Given the description of an element on the screen output the (x, y) to click on. 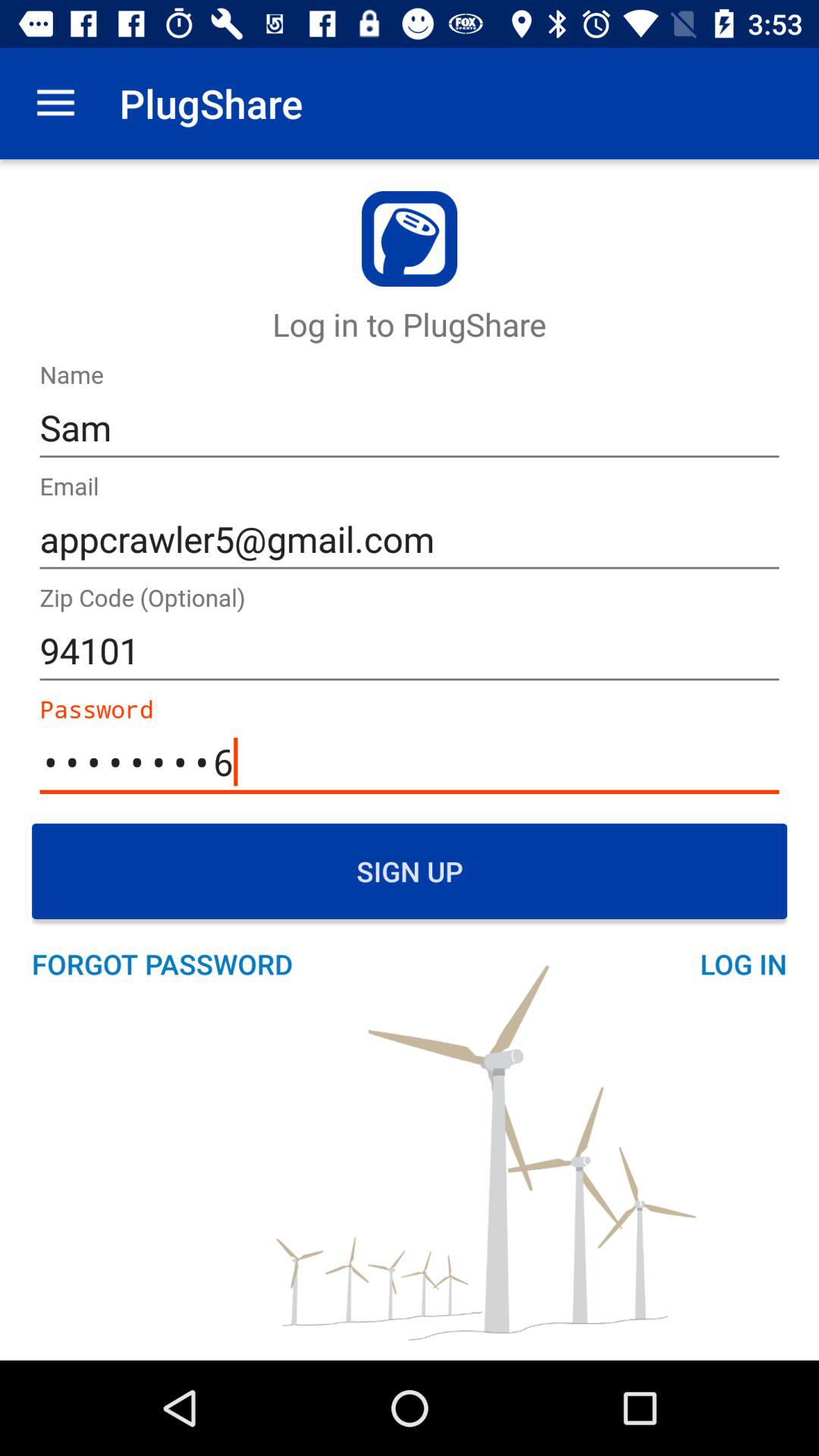
open the item next to the plugshare item (55, 103)
